Given the description of an element on the screen output the (x, y) to click on. 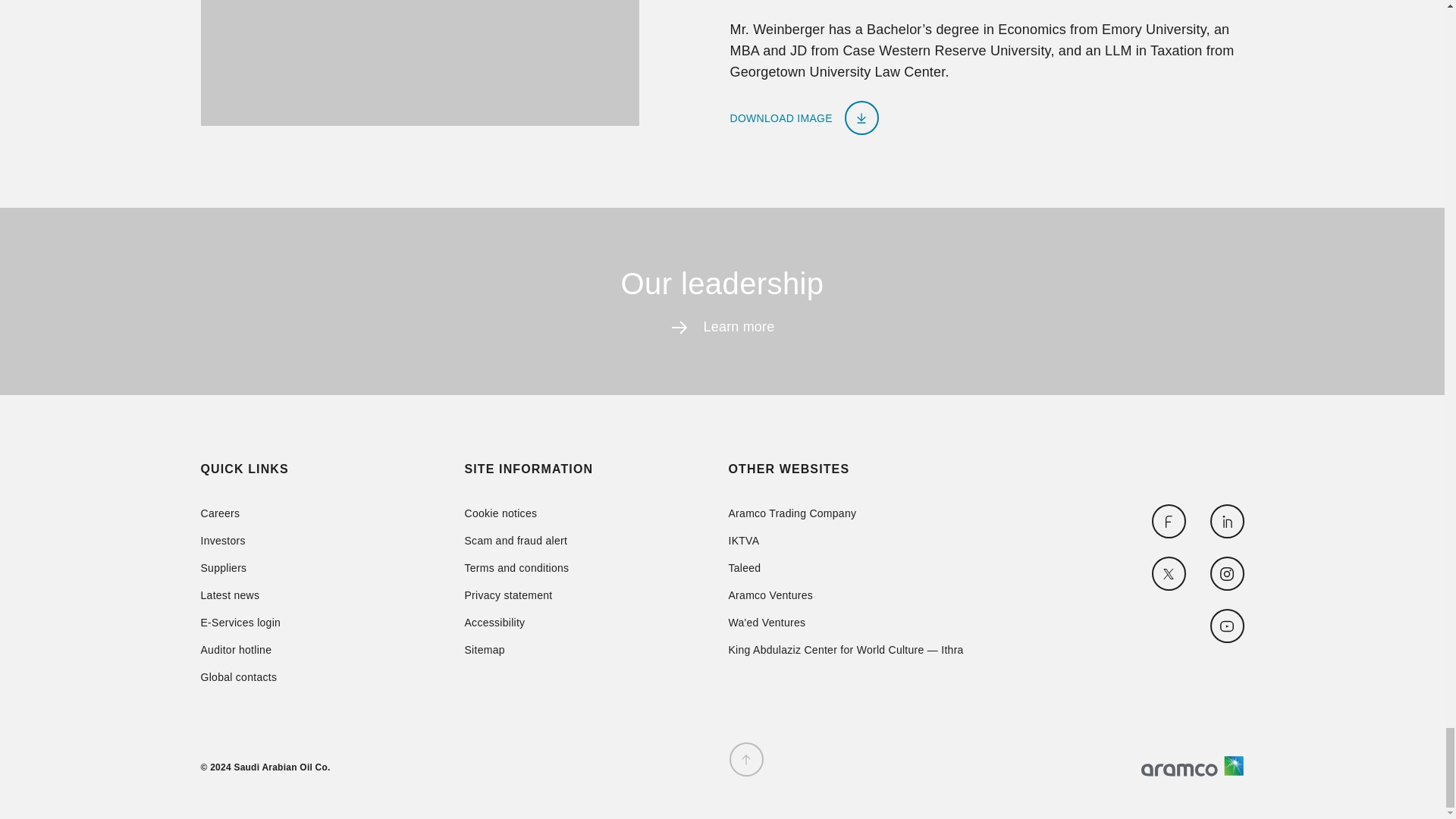
Aramco (1191, 765)
Suppliers (240, 567)
Terms and conditions (516, 567)
Auditor hotline (240, 649)
Careers (240, 513)
Scam and fraud alert (516, 540)
DOWNLOAD IMAGE (803, 117)
Investors (240, 540)
Latest news (240, 594)
Wa'ed Ventures (845, 622)
Sitemap (516, 649)
Aramco Ventures (845, 594)
Global contacts (240, 676)
E-Services login (240, 622)
Accessibility (516, 622)
